Given the description of an element on the screen output the (x, y) to click on. 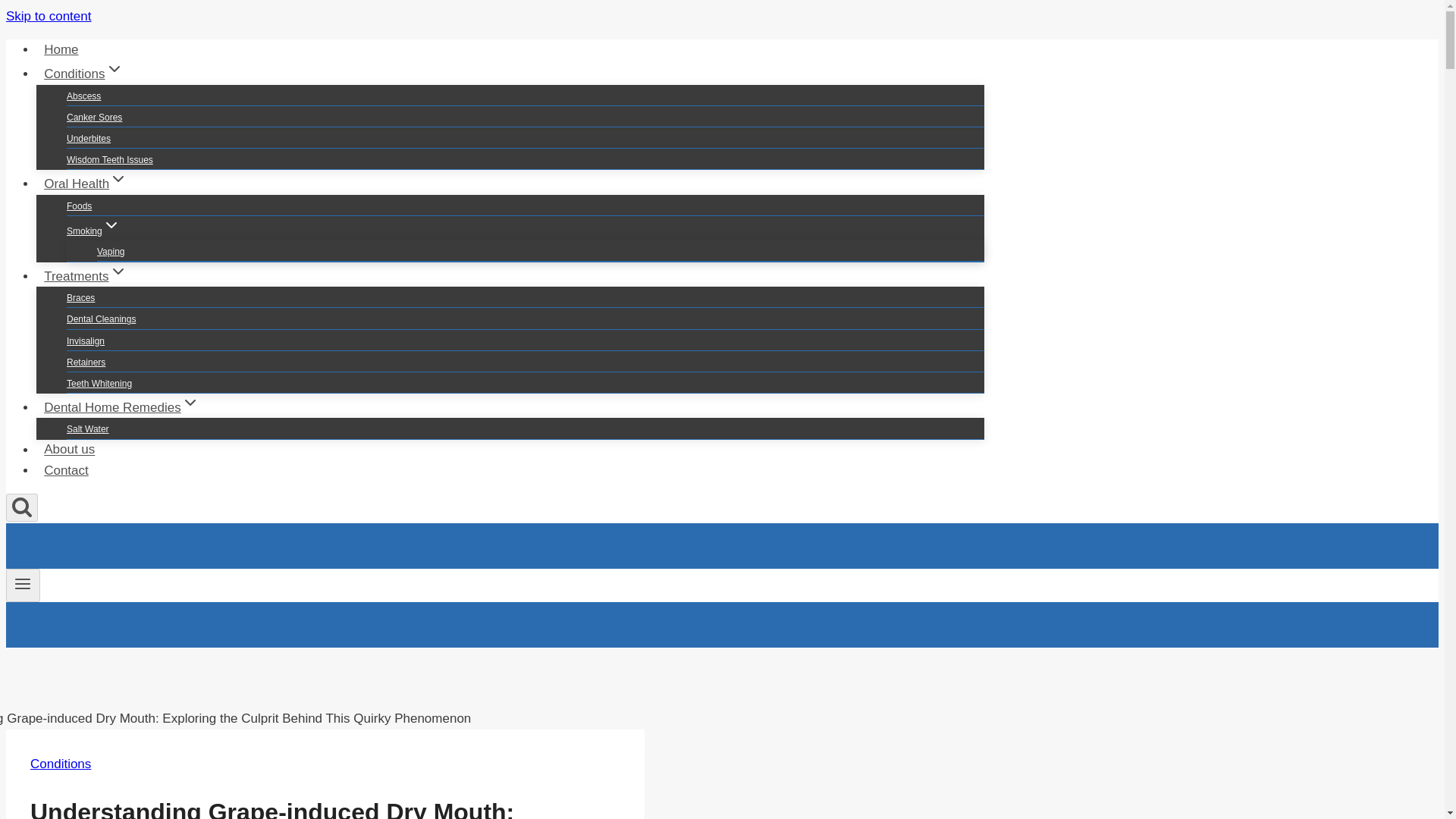
Toggle Menu (22, 584)
ConditionsExpand (83, 73)
About us (68, 449)
Home (60, 49)
Expand (110, 225)
Conditions (60, 763)
Underbites (88, 138)
Search (21, 506)
Vaping (110, 251)
Dental Home RemediesExpand (121, 407)
